Given the description of an element on the screen output the (x, y) to click on. 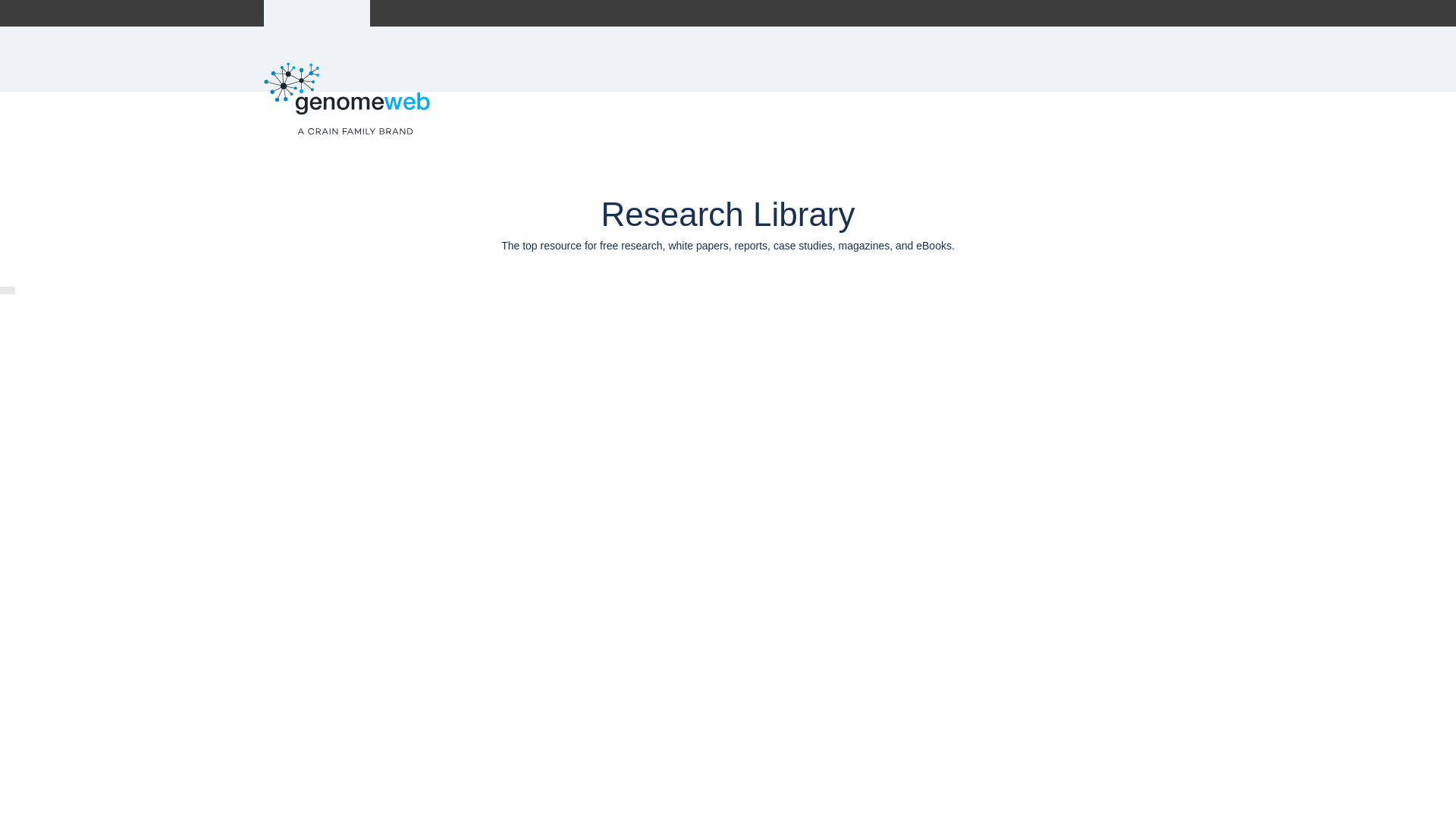
360Dx (410, 13)
GenomeWeb (316, 13)
Precision Oncology News (505, 13)
